Given the description of an element on the screen output the (x, y) to click on. 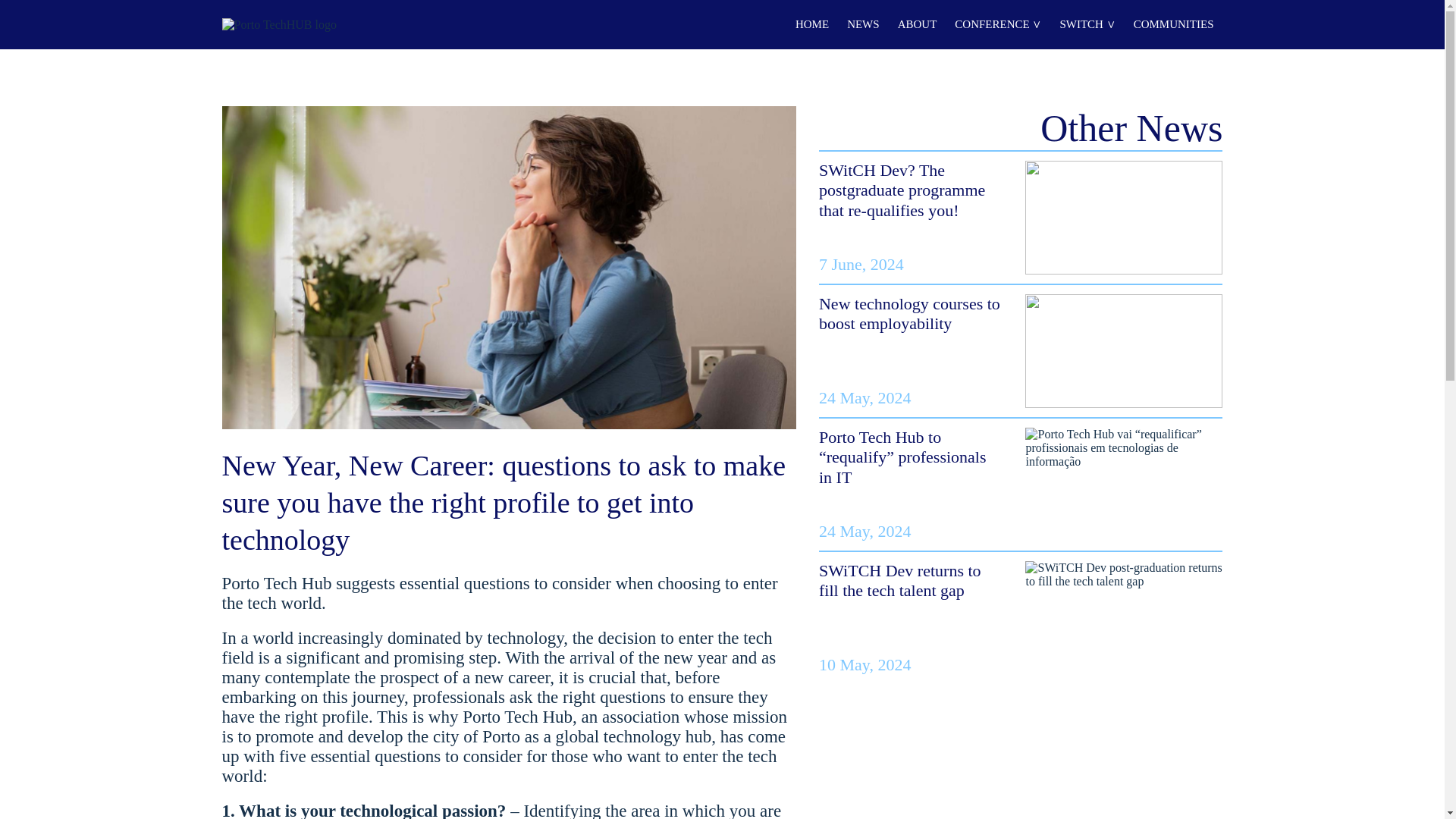
SWiTCH Dev returns to fill the tech talent gap (899, 580)
SWITCH (1087, 27)
ABOUT (917, 27)
NEWS (863, 27)
SWiTCH Dev returns to fill the tech talent gap (899, 580)
New technology courses to boost employability (909, 313)
CONFERENCE (998, 27)
New technology courses to boost employability (909, 313)
HOME (811, 27)
COMMUNITIES (1174, 27)
